Given the description of an element on the screen output the (x, y) to click on. 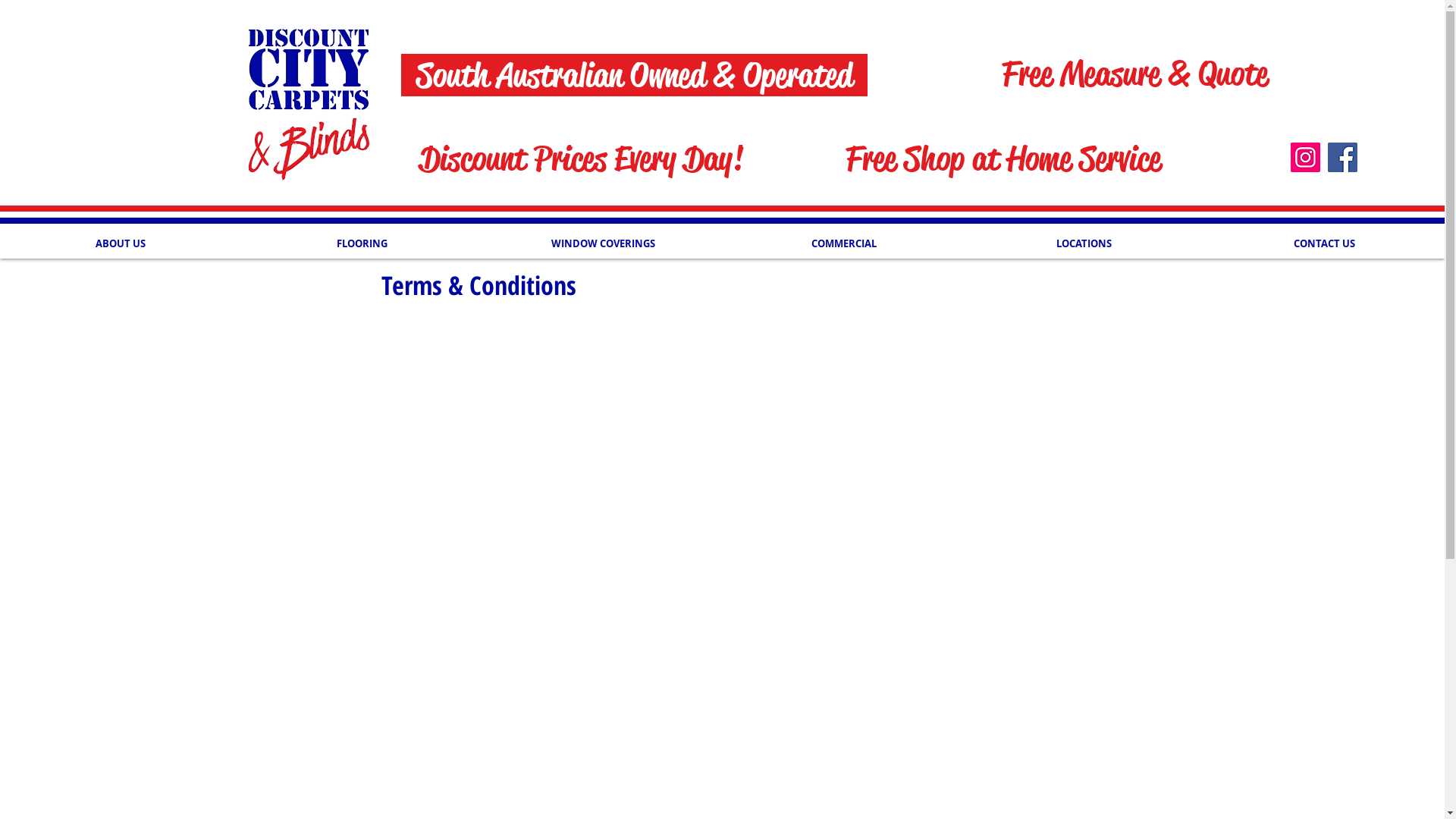
ABOUT US Element type: text (120, 243)
COMMERCIAL Element type: text (843, 243)
LOCATIONS Element type: text (1083, 243)
WINDOW COVERINGS Element type: text (602, 243)
Free Measure & Quote Element type: text (1134, 73)
FLOORING Element type: text (361, 243)
CONTACT US Element type: text (1324, 243)
